Given the description of an element on the screen output the (x, y) to click on. 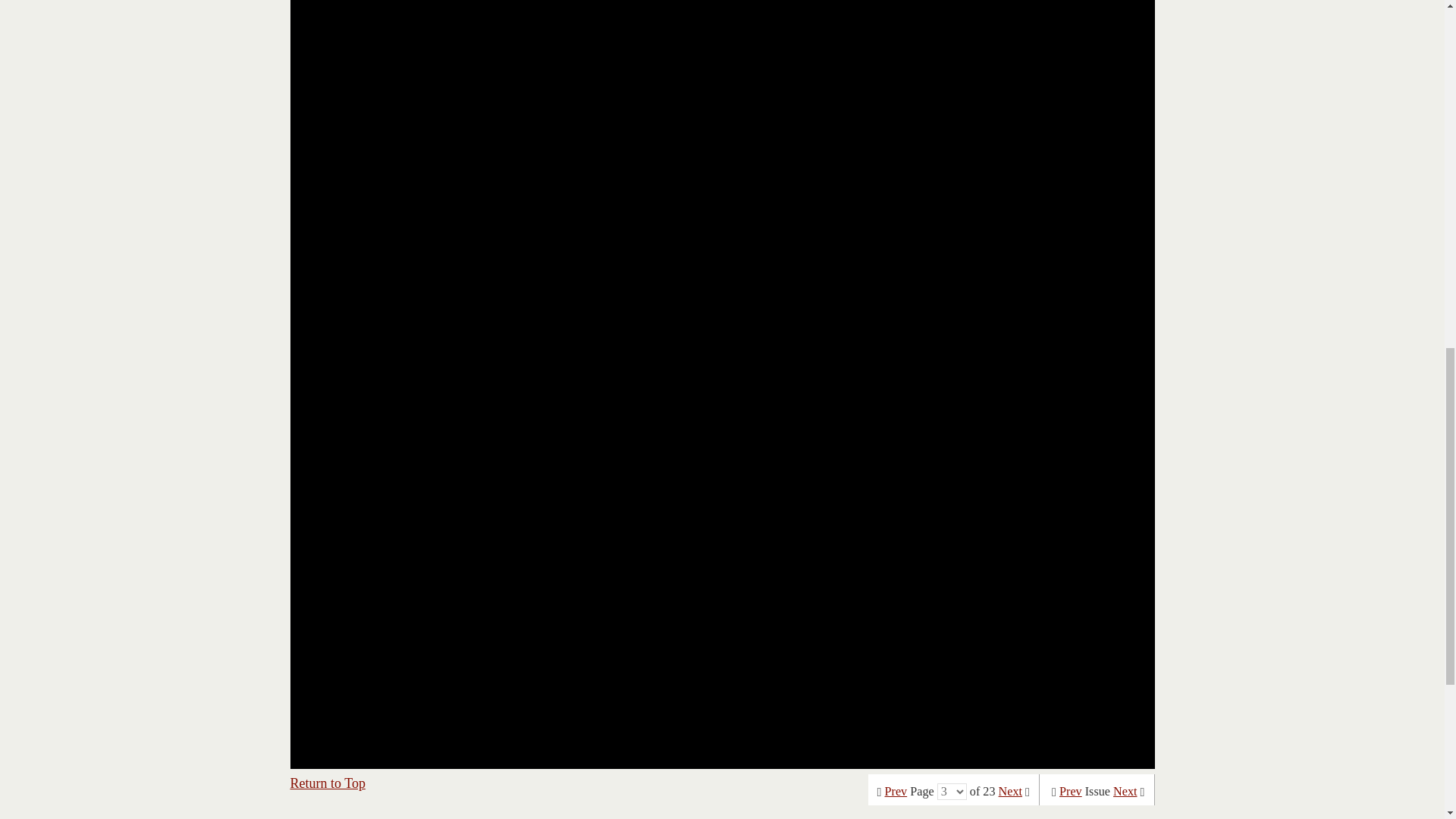
Next (1010, 791)
Prev (1070, 791)
Next (1125, 791)
Return to Top (327, 783)
Prev (896, 791)
